Given the description of an element on the screen output the (x, y) to click on. 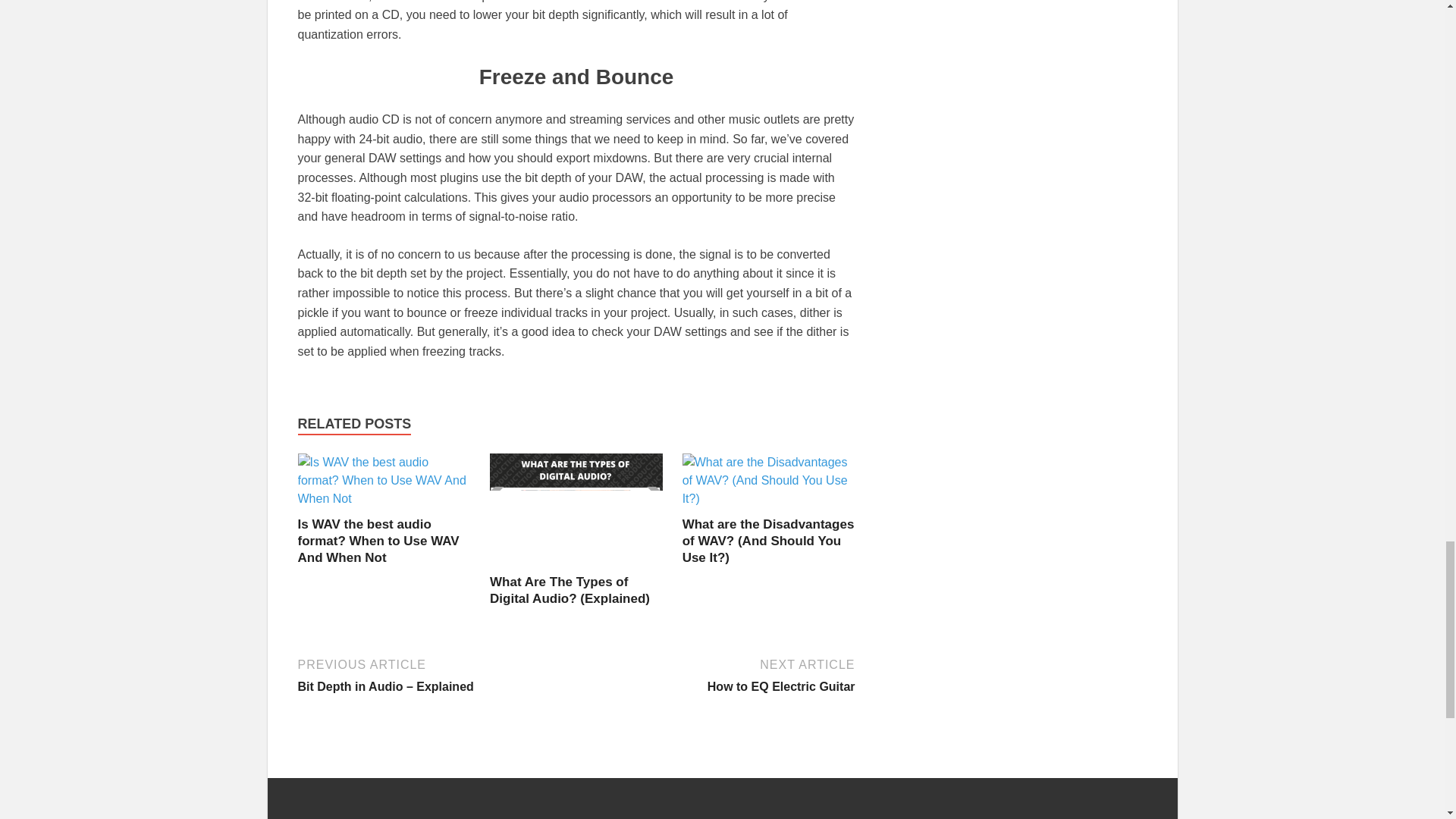
Is WAV the best audio format? When to Use WAV And When Not (383, 498)
Is WAV the best audio format? When to Use WAV And When Not (377, 540)
Is WAV the best audio format? When to Use WAV And When Not (377, 540)
